Given the description of an element on the screen output the (x, y) to click on. 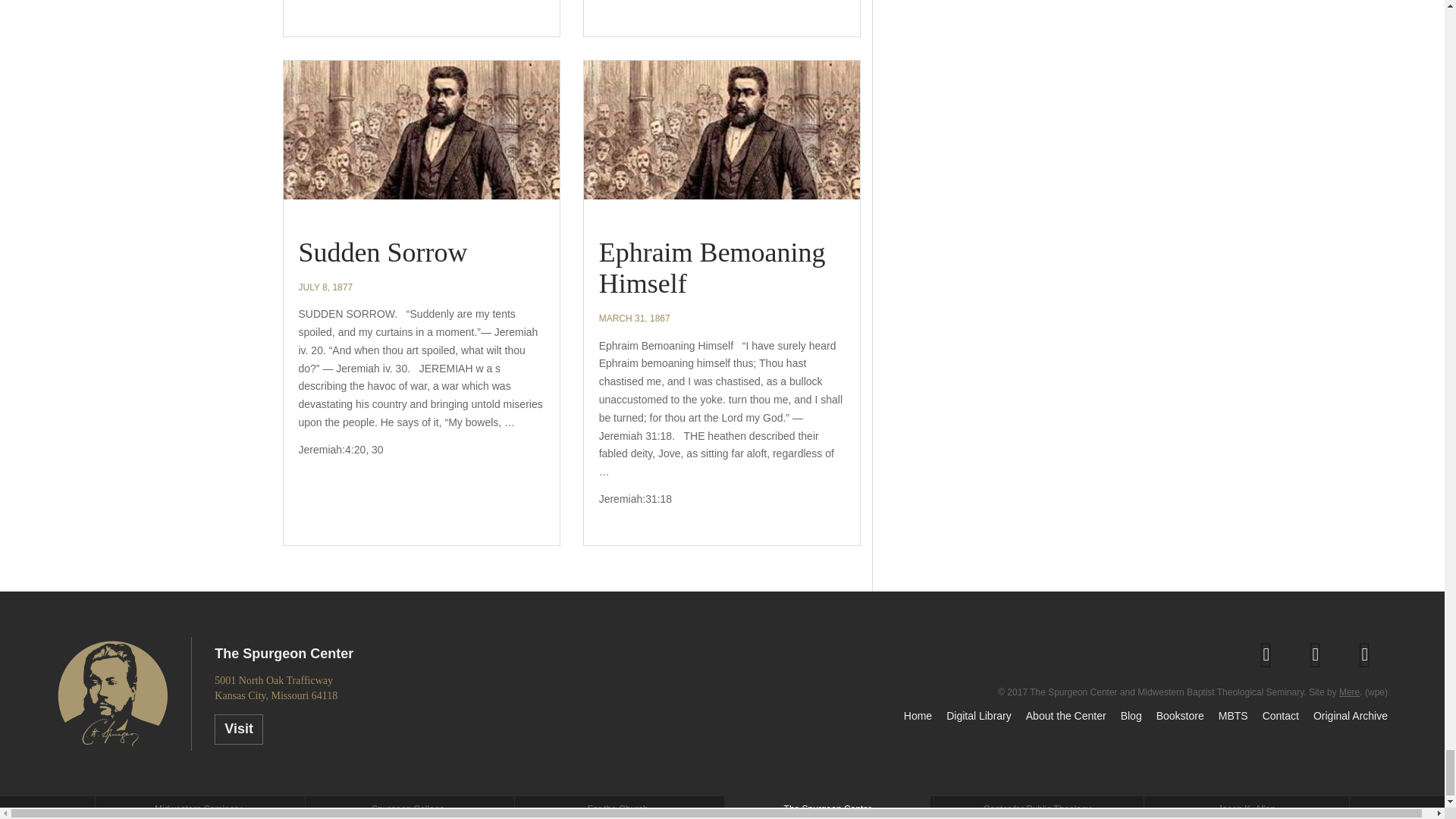
Sudden Sorrow (382, 252)
Ephraim Bemoaning Himself (711, 268)
